Given the description of an element on the screen output the (x, y) to click on. 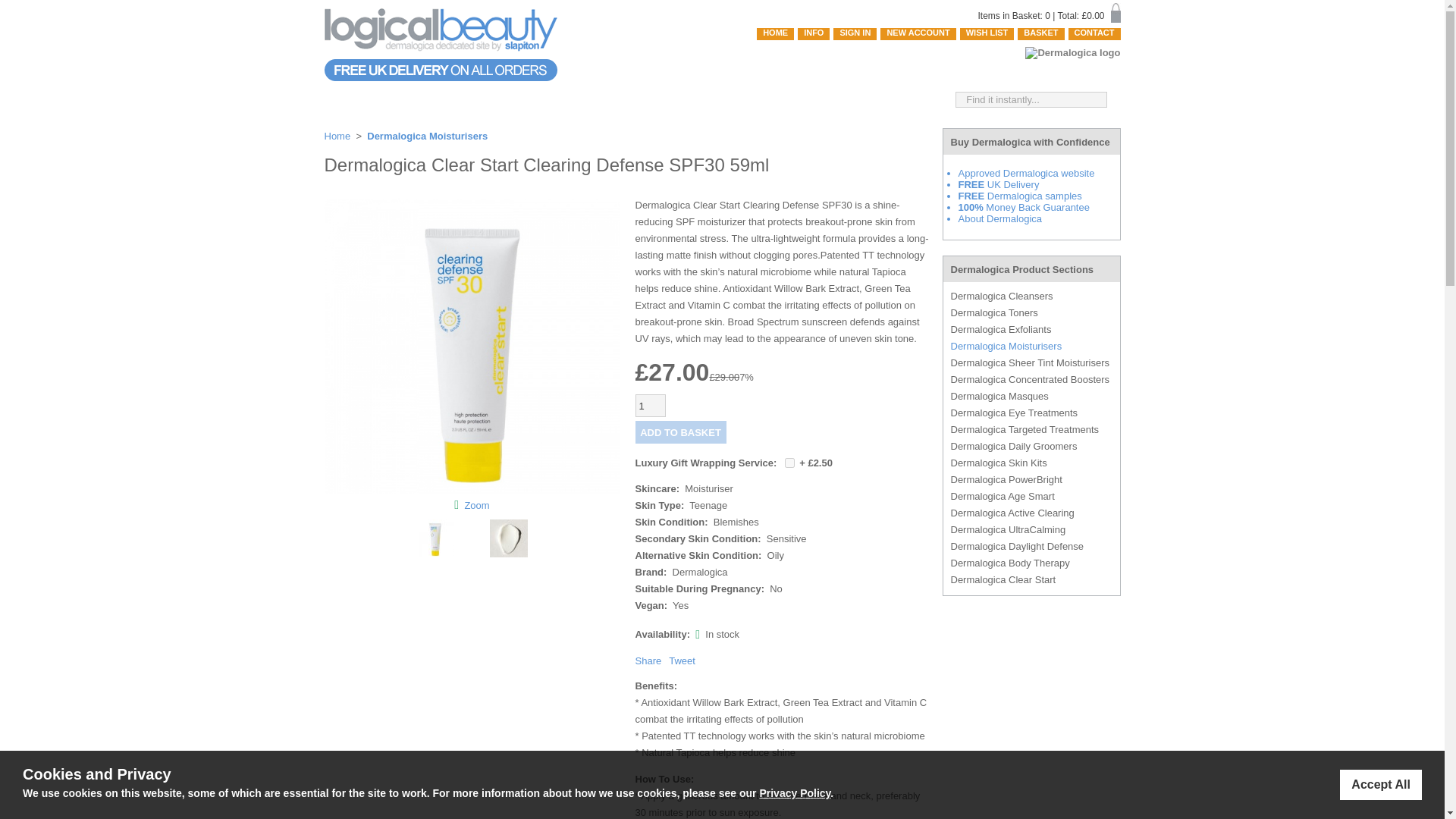
Dermalogica Concentrated Boosters (1031, 379)
Dermalogica Cleansers (1031, 295)
ADD TO BASKET (680, 431)
Dermalogica Masques (1031, 395)
About Dermalogica (1000, 218)
1 (649, 404)
Dermalogica Exfoliants (1031, 329)
Dermalogica Clear Start Clearing Defense SPF30 59ml (476, 504)
Dermalogica Toners (1031, 312)
1 (789, 462)
